Given the description of an element on the screen output the (x, y) to click on. 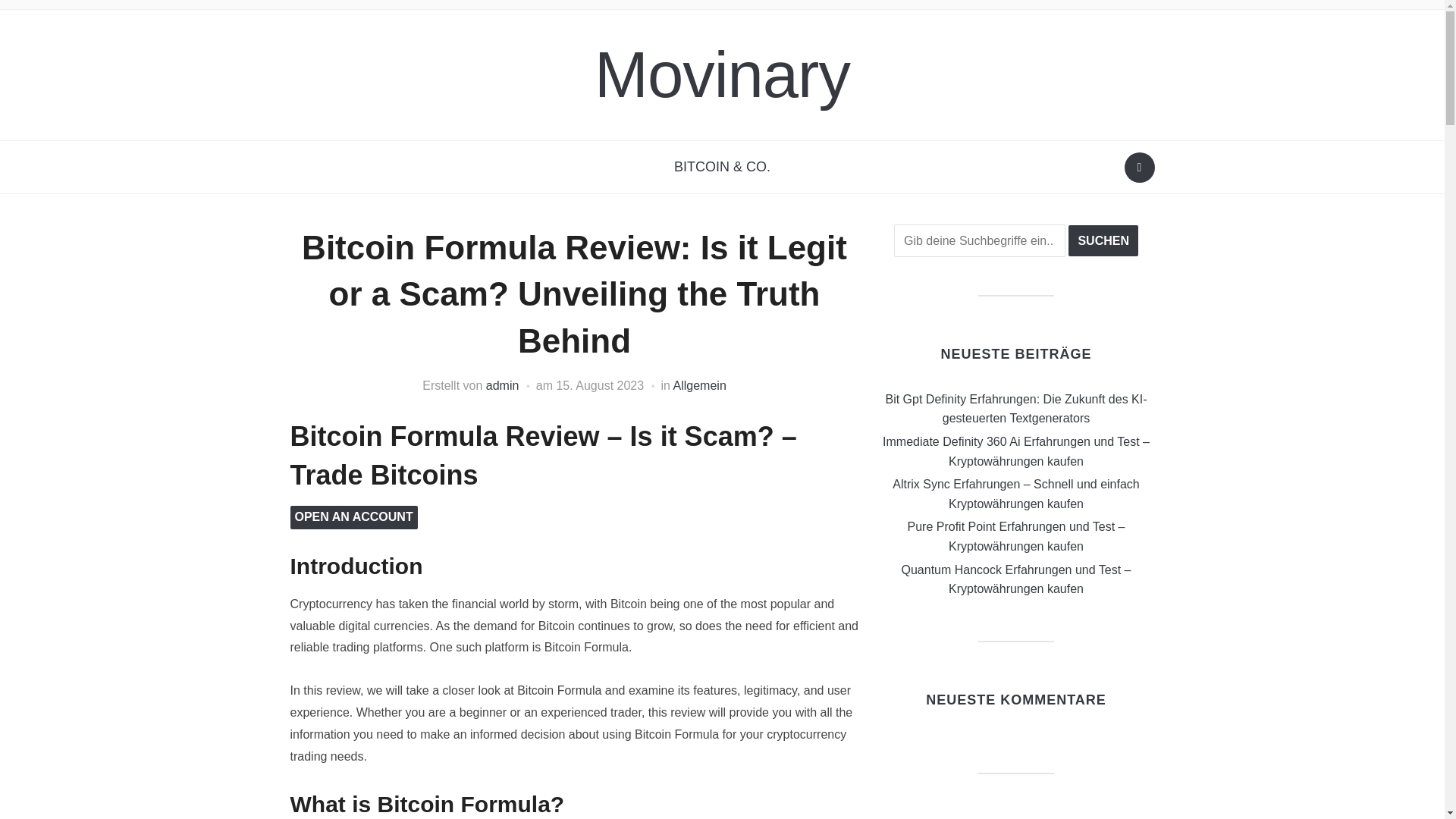
admin (502, 385)
Suchen (1139, 167)
Suchen (1103, 241)
OPEN AN ACCOUNT (352, 516)
Movinary (722, 74)
Suchen (1103, 241)
OPEN AN ACCOUNT (352, 517)
Allgemein (699, 385)
Suchen (1103, 241)
